Given the description of an element on the screen output the (x, y) to click on. 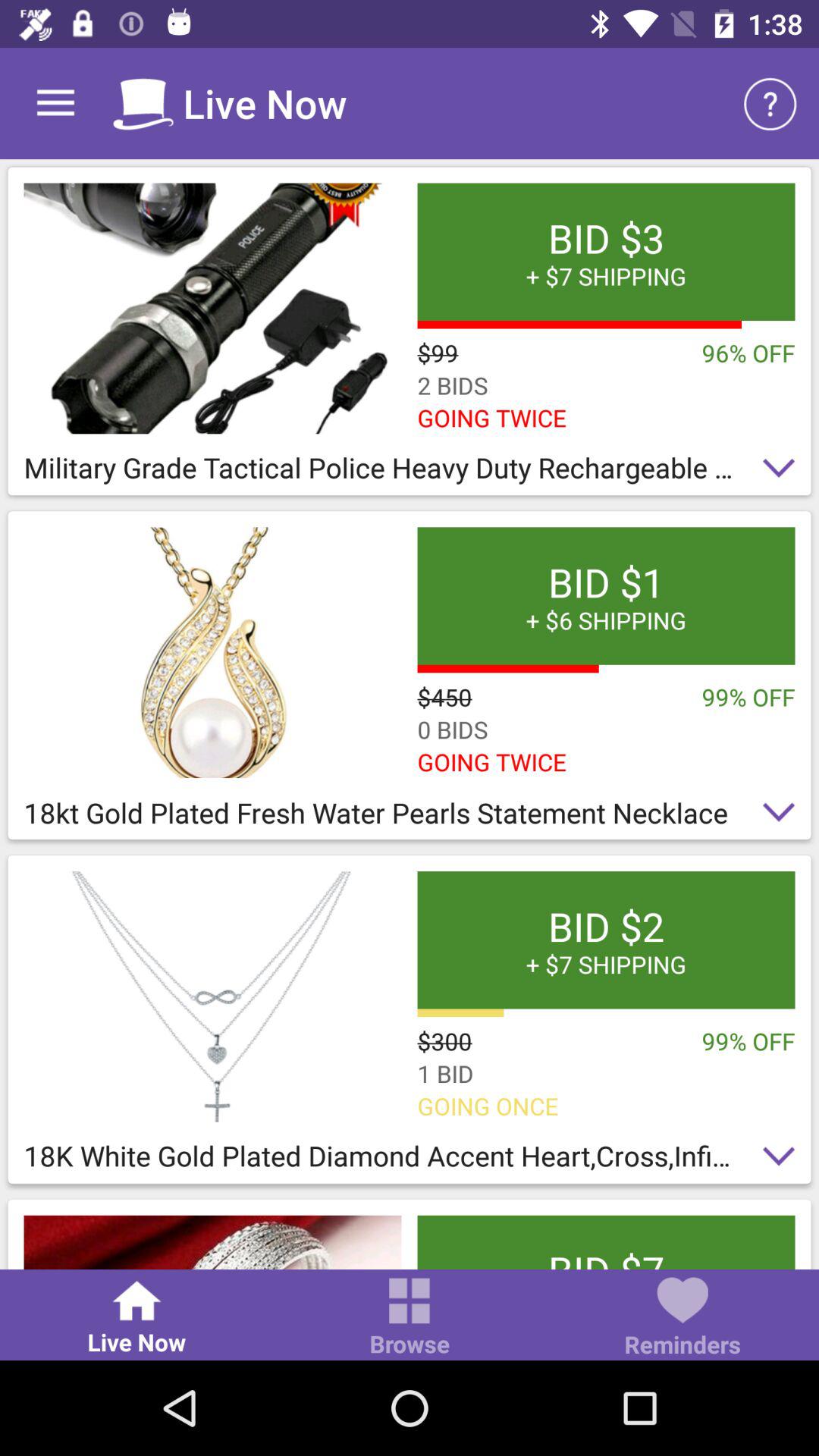
enlarge image (212, 652)
